Given the description of an element on the screen output the (x, y) to click on. 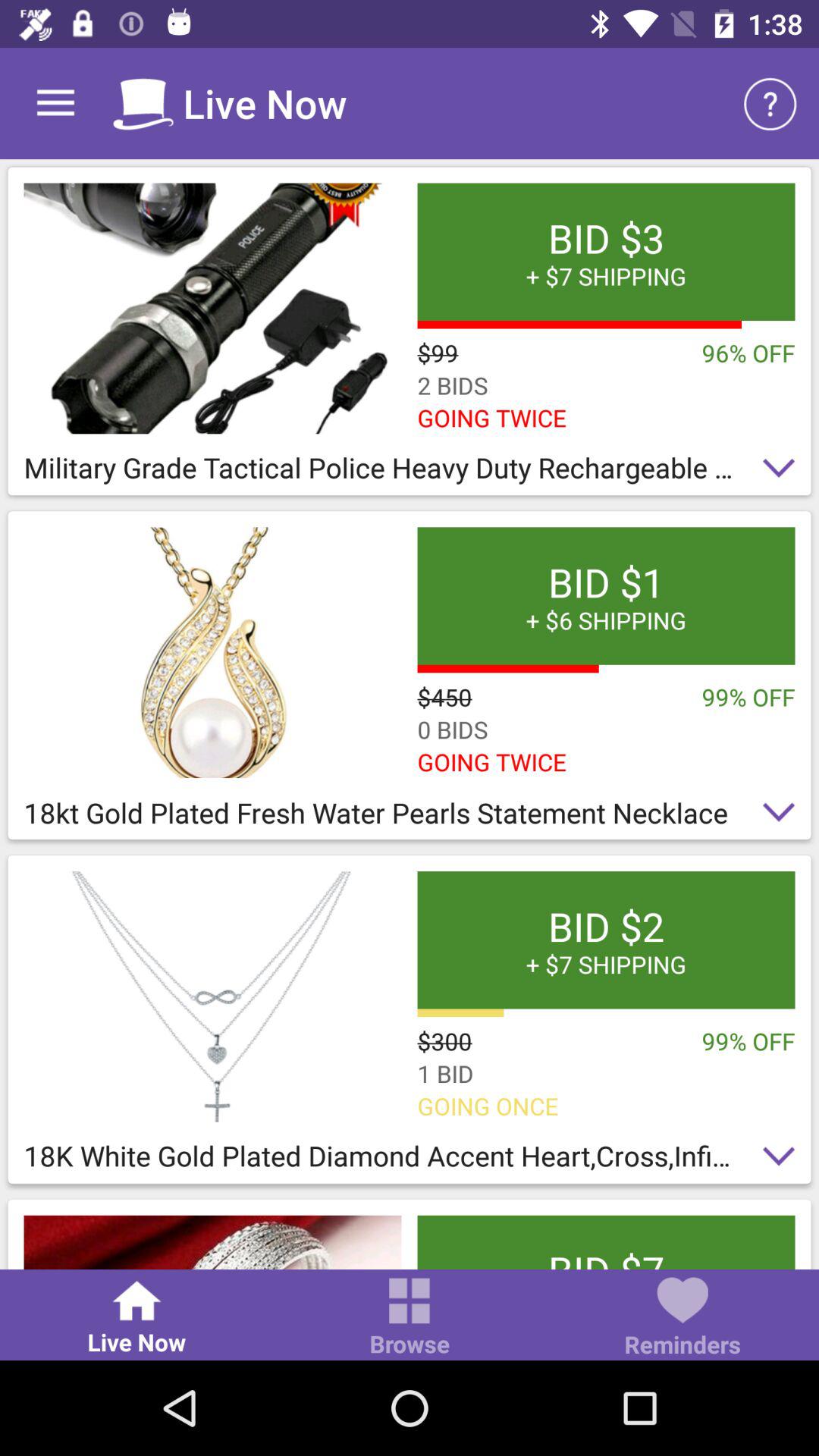
enlarge image (212, 652)
